Given the description of an element on the screen output the (x, y) to click on. 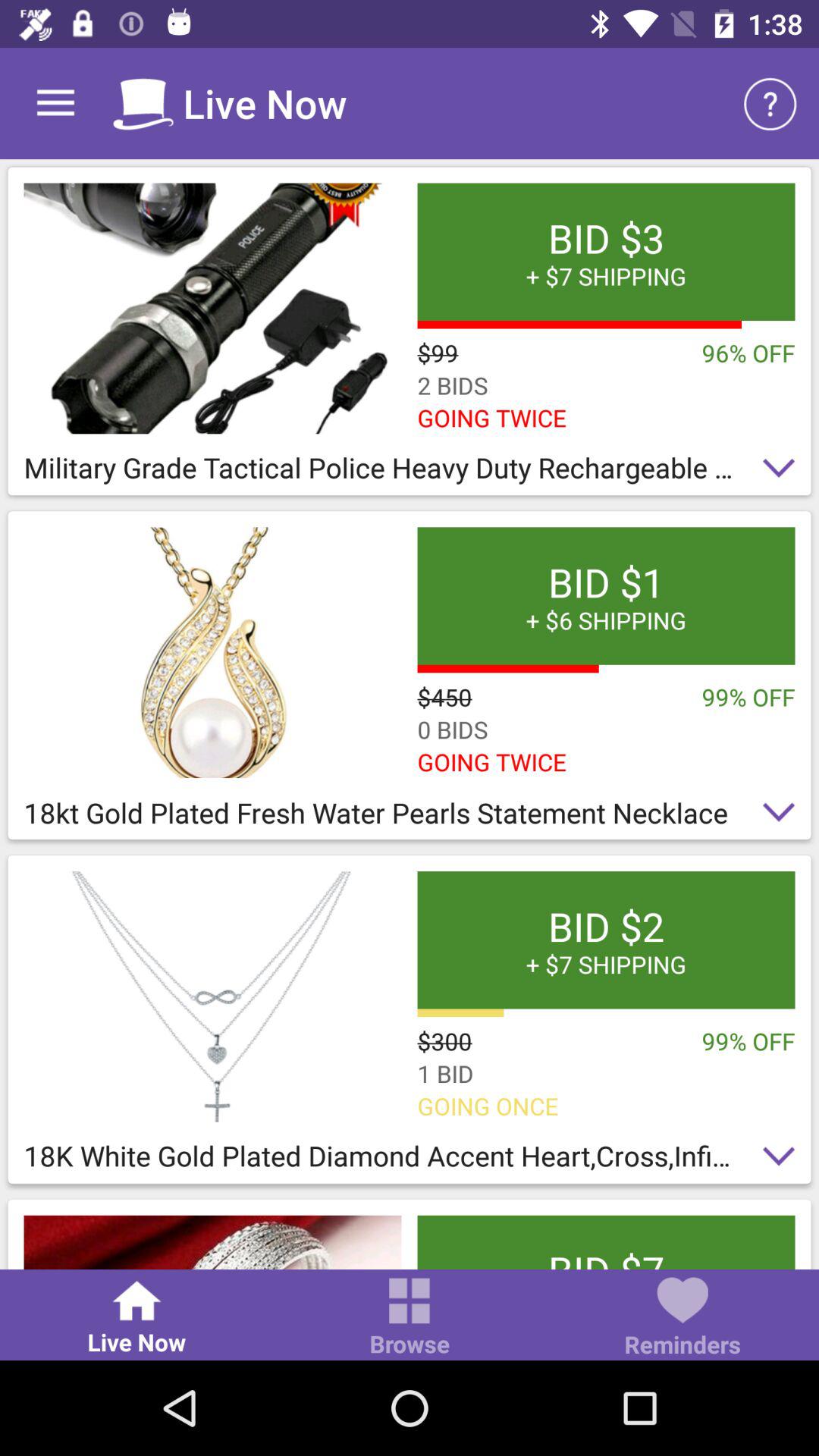
enlarge image (212, 652)
